Given the description of an element on the screen output the (x, y) to click on. 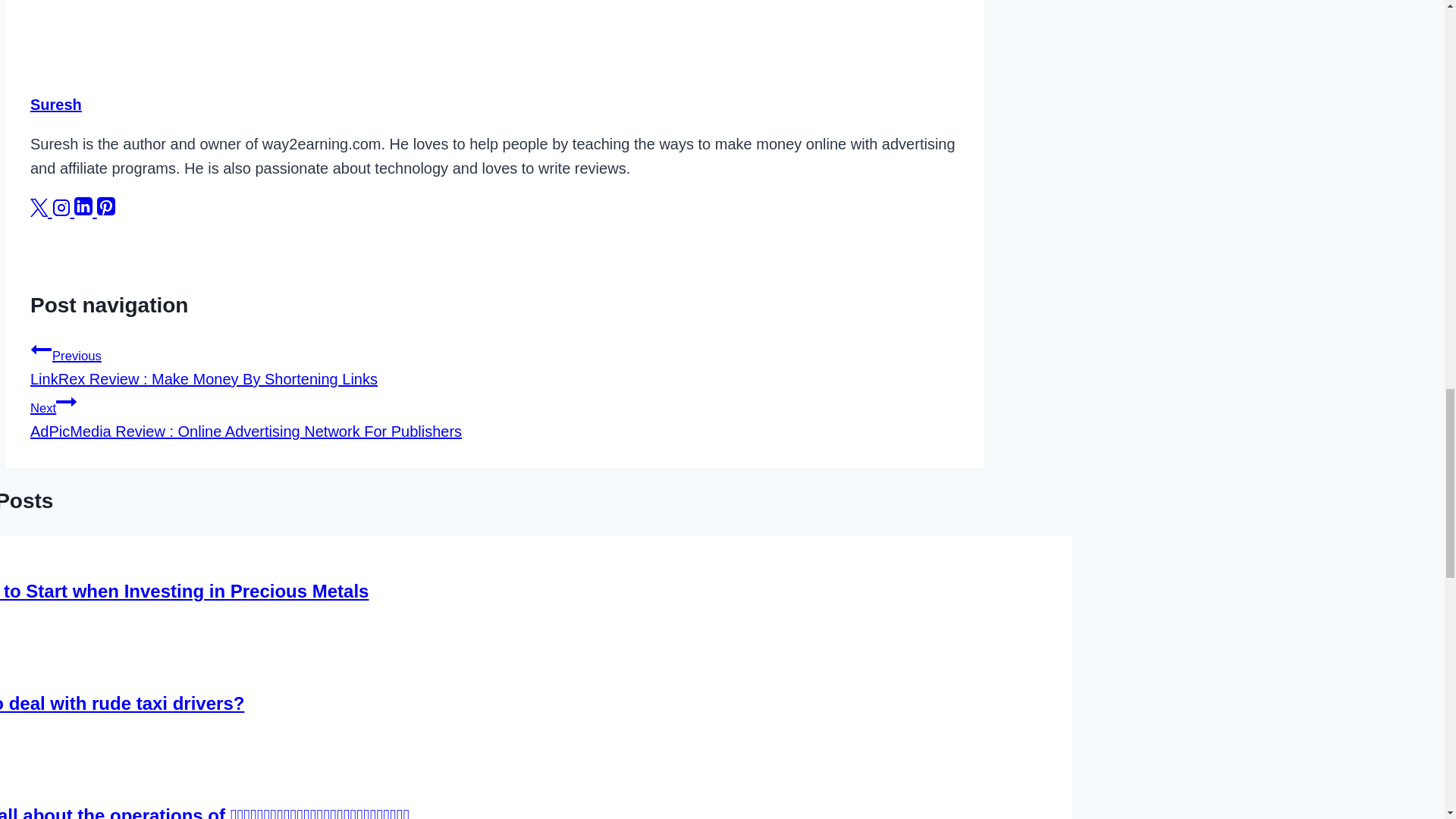
Suresh (55, 104)
Pinterest (106, 211)
Posts by Suresh (55, 104)
How to deal with rude taxi drivers? (122, 702)
Linkedin (85, 211)
Follow Suresh on Linkedin (85, 211)
Follow Suresh on Pinterest (106, 211)
X (41, 211)
Instagram (60, 208)
Linkedin (83, 206)
Follow Suresh on Instagram (63, 211)
Where to Start when Investing in Precious Metals (184, 590)
Follow Suresh on X formerly Twitter (41, 211)
